Given the description of an element on the screen output the (x, y) to click on. 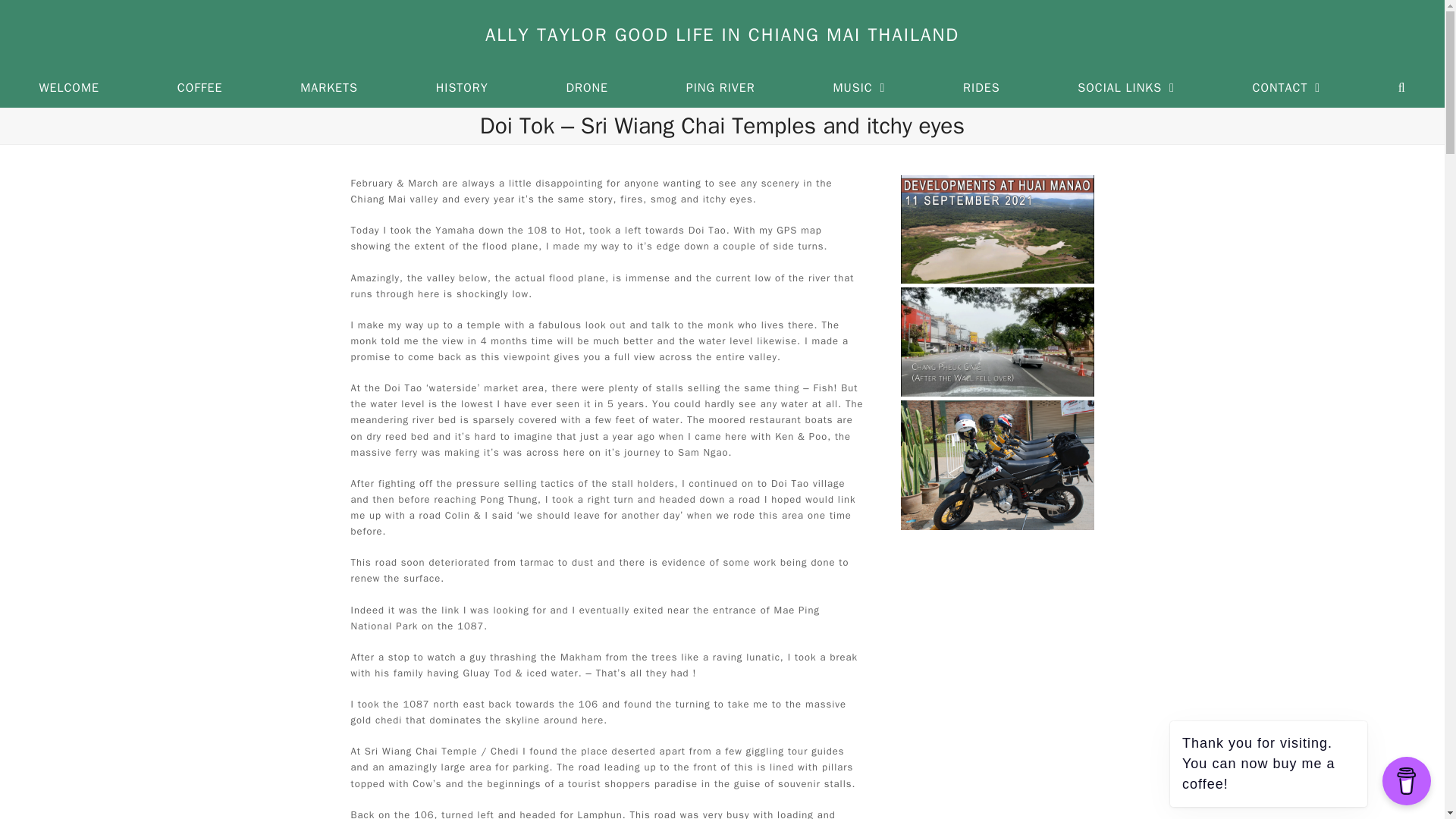
ALLY TAYLOR GOOD LIFE IN CHIANG MAI THAILAND (721, 34)
CONTACT (1285, 88)
RIDES (981, 88)
PING RIVER (719, 88)
MARKETS (329, 88)
4 D-Trackers to Samoeng (997, 463)
COFFEE (199, 88)
DRONE (586, 88)
HISTORY (461, 88)
SOCIAL LINKS (1125, 88)
WELCOME (69, 88)
MUSIC (858, 88)
Driving in Chiang Mai Canal Road to Rajavej Hospital (997, 340)
